Given the description of an element on the screen output the (x, y) to click on. 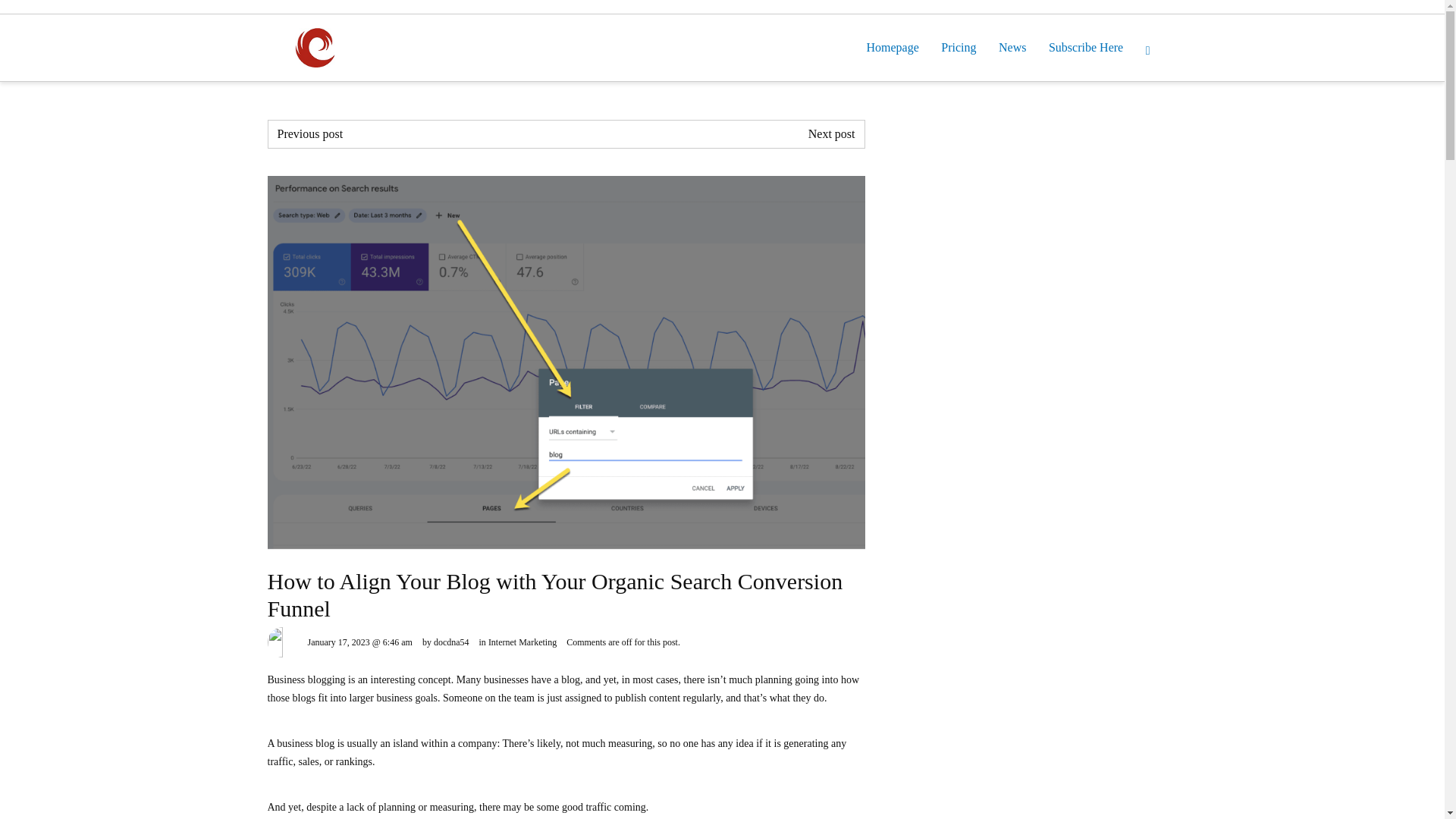
Next post (832, 133)
Subscribe Here (1085, 47)
Previous post (310, 133)
docdna54 (450, 642)
Ryan Reynolds Offers A Glimpse Into AI-powered Marketing (310, 133)
Internet Marketing (521, 642)
Homepage (892, 47)
